Given the description of an element on the screen output the (x, y) to click on. 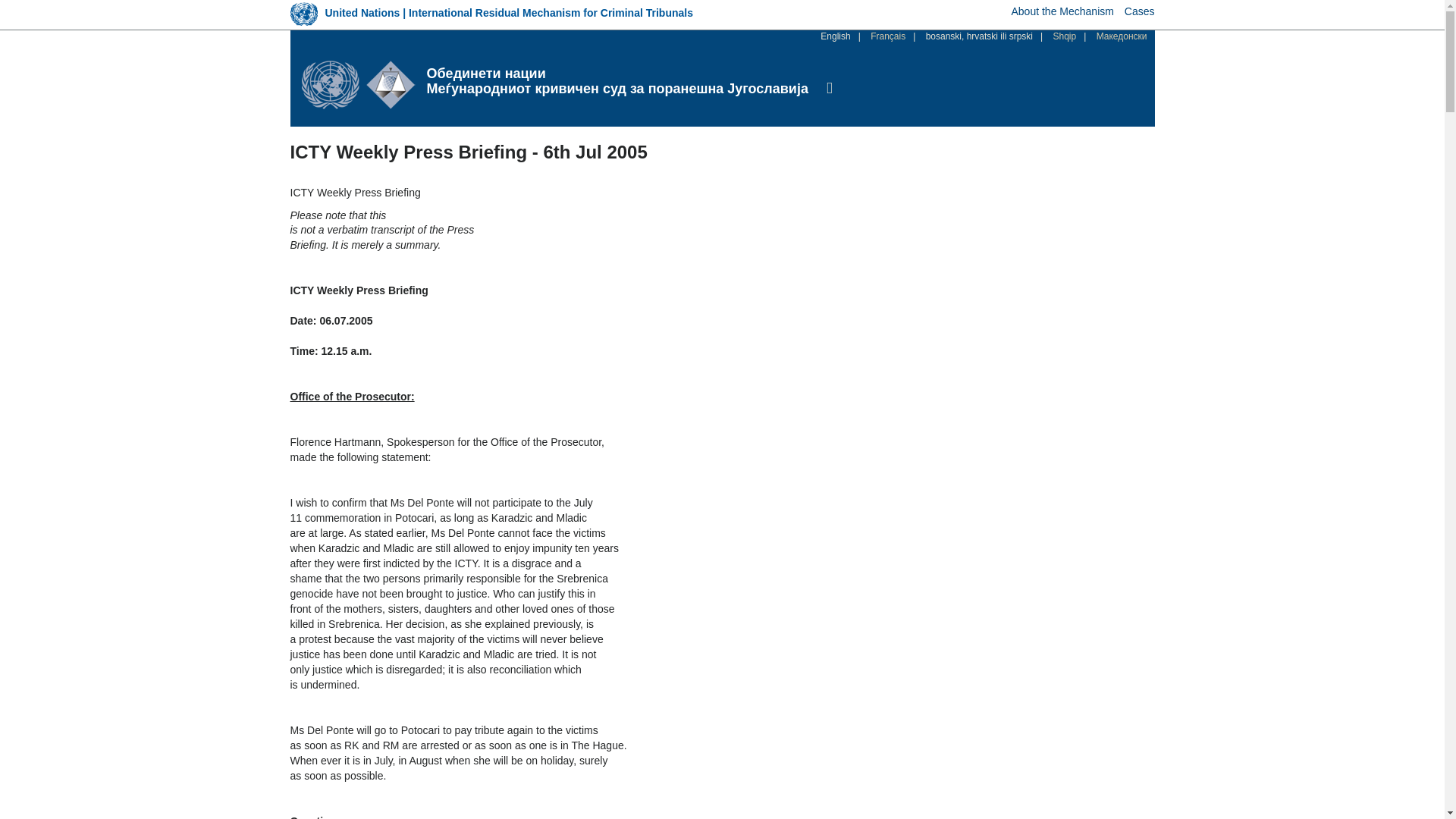
ICTY Weekly Press Briefing - 6th Jul 2005 (979, 36)
ICTY Weekly Press Briefing - 6th Jul 2005 (835, 36)
Home (616, 73)
English (835, 36)
Home (363, 84)
bosanski, hrvatski ili srpski (979, 36)
About the Mechanism (1062, 10)
Cases (1139, 10)
